Given the description of an element on the screen output the (x, y) to click on. 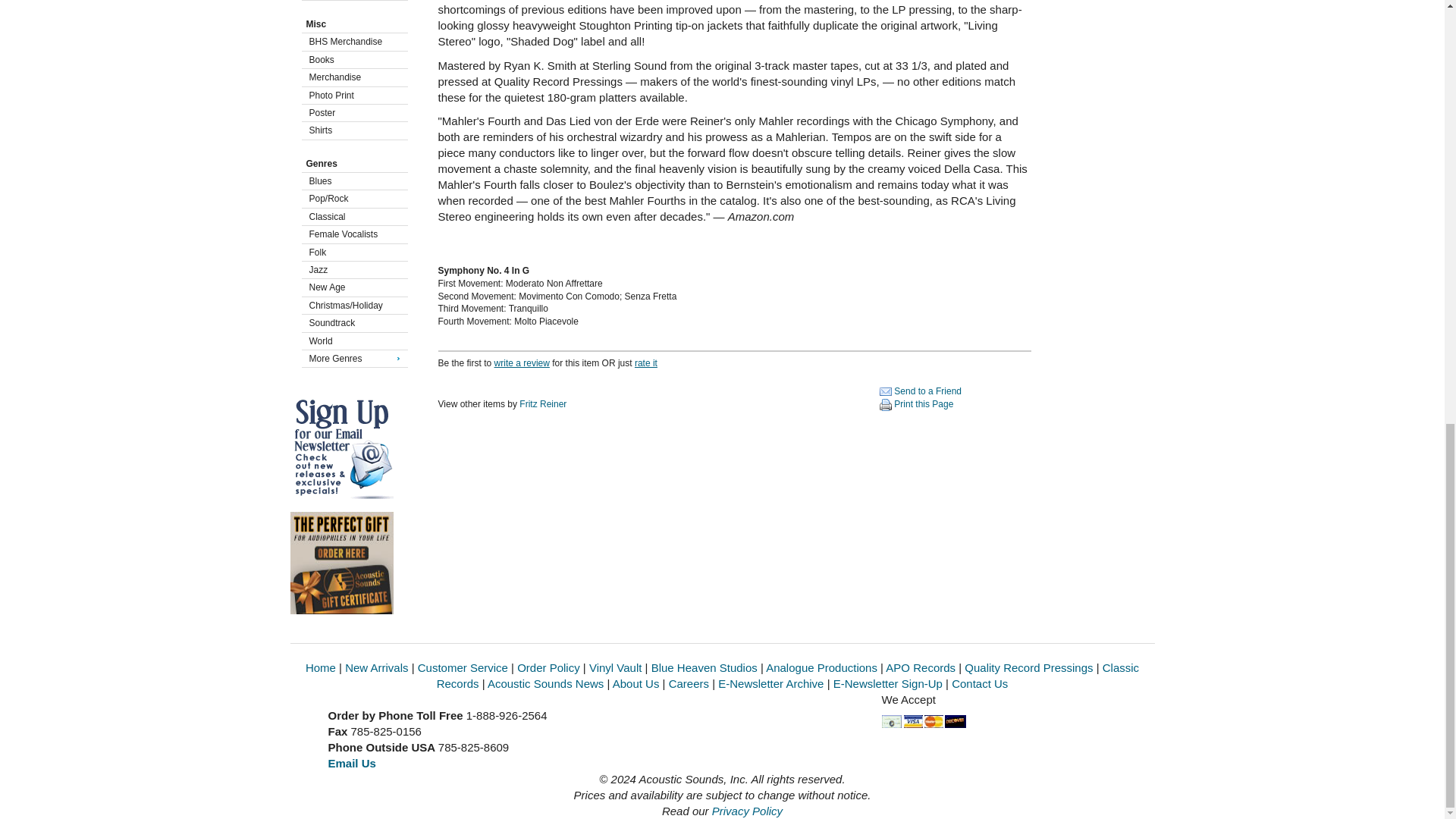
Jazz (351, 269)
Browse Genres (350, 163)
Blues (351, 181)
Soundtrack (351, 323)
Female Vocalists (351, 233)
New Age (351, 287)
Classical (351, 216)
Folk  (351, 252)
World (351, 341)
